Given the description of an element on the screen output the (x, y) to click on. 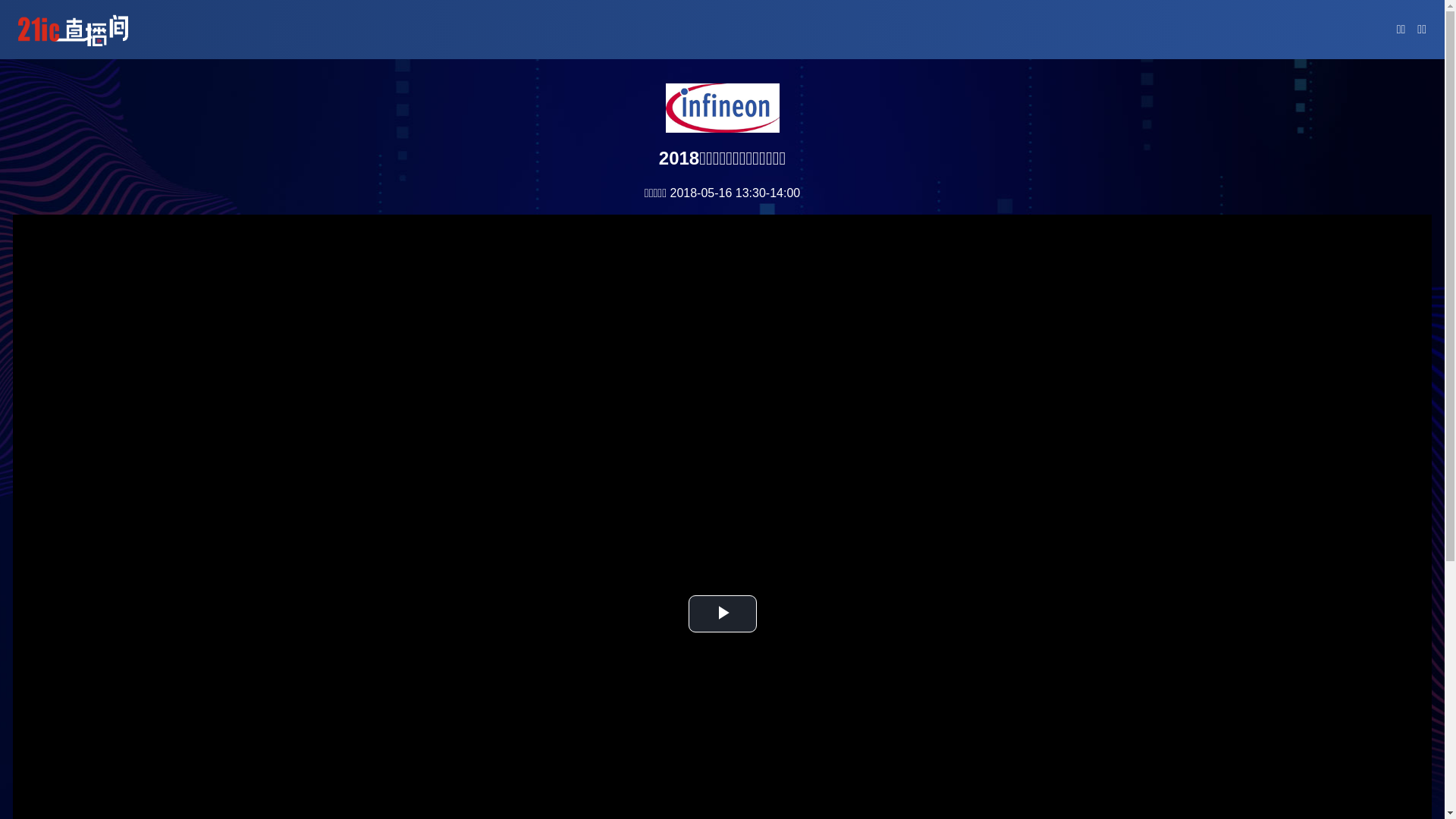
Play Video Element type: text (722, 613)
